Given the description of an element on the screen output the (x, y) to click on. 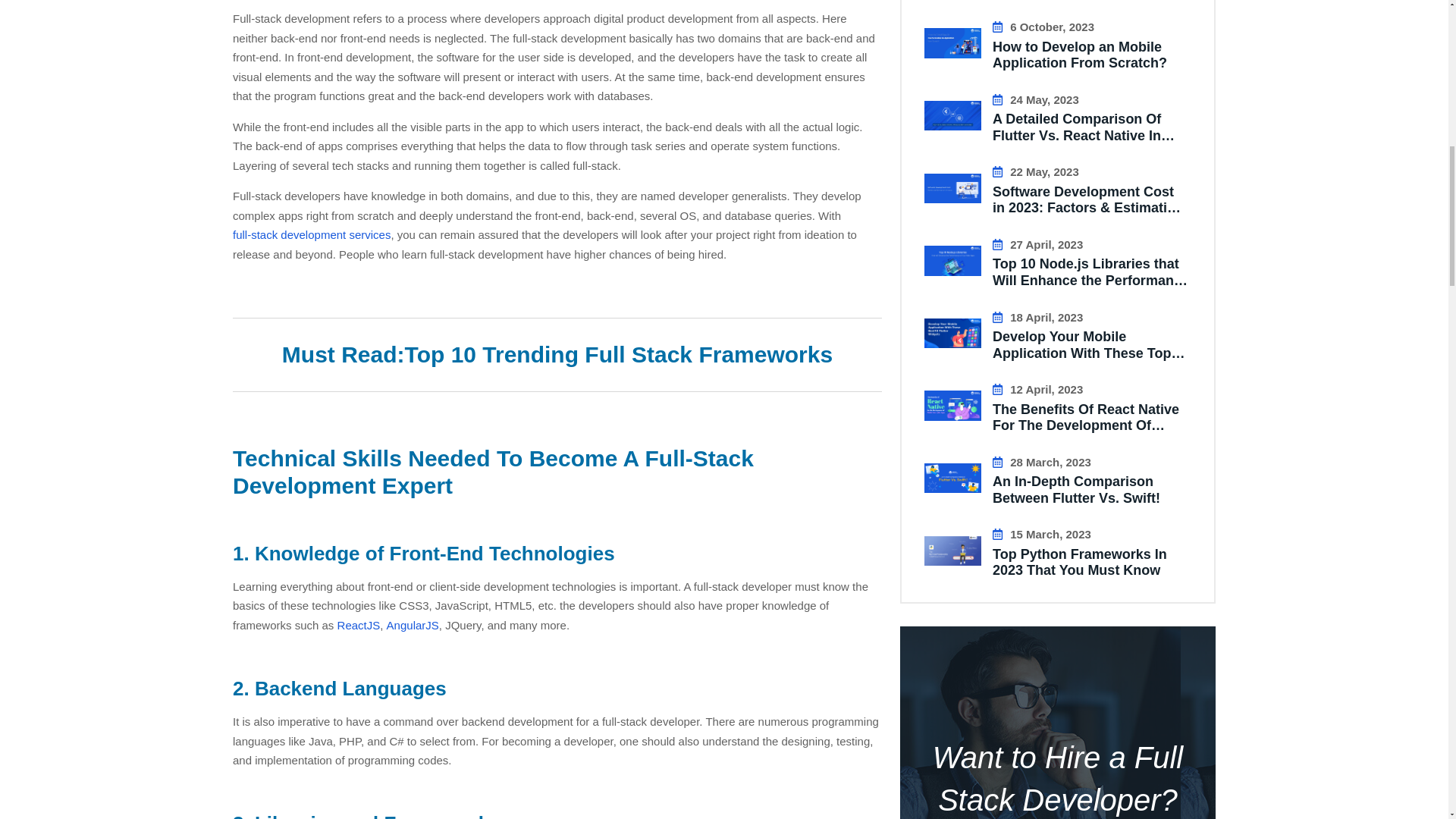
Top 10 Trending Full Stack Frameworks (618, 354)
AngularJS (413, 625)
full-stack development services (311, 234)
ReactJS (358, 625)
full-stack development services (311, 234)
